Given the description of an element on the screen output the (x, y) to click on. 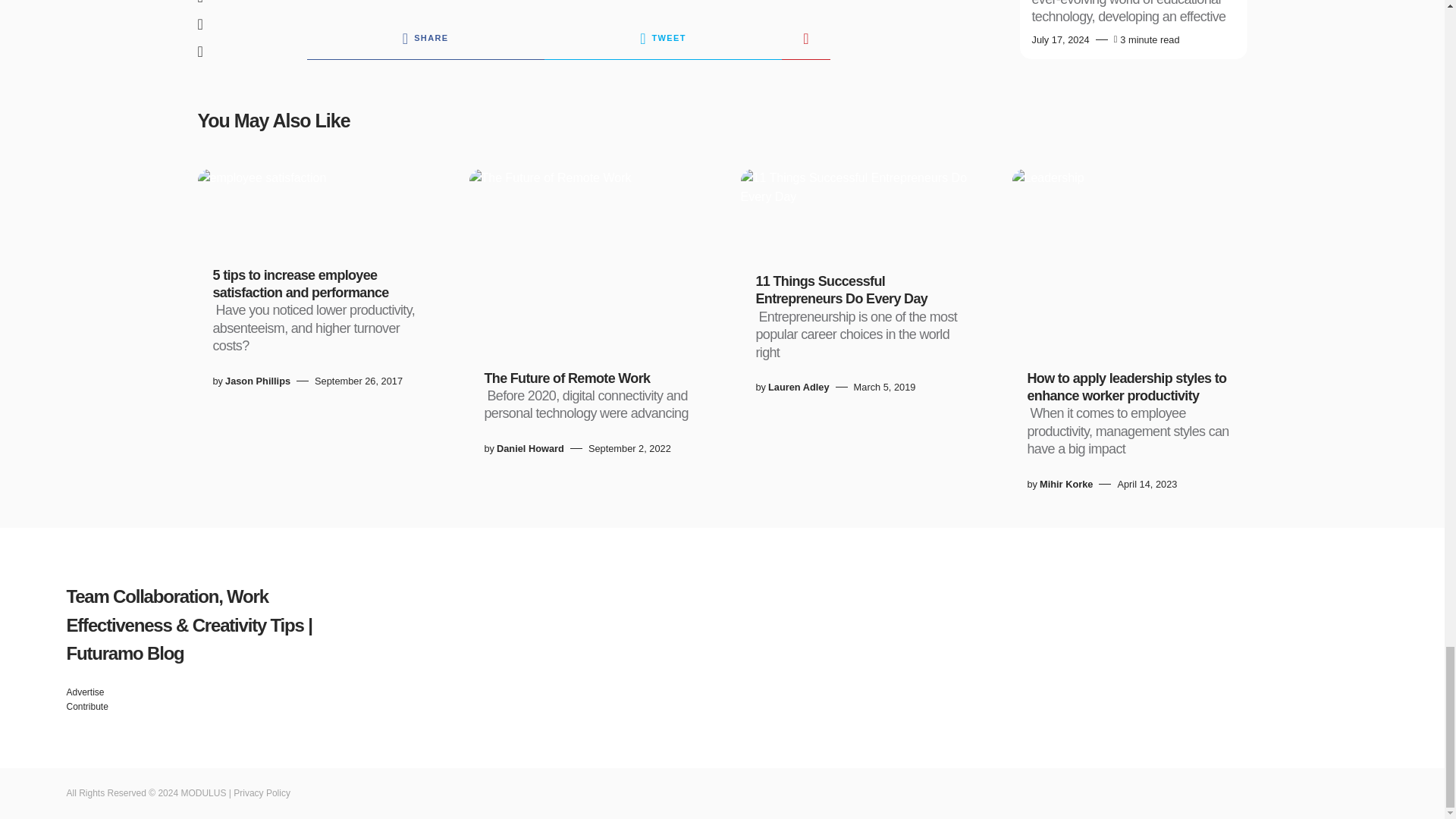
View all posts by Daniel Howard (530, 448)
View all posts by Mihir Korke (1066, 484)
View all posts by Lauren Adley (798, 387)
View all posts by Jason Phillips (257, 381)
